Given the description of an element on the screen output the (x, y) to click on. 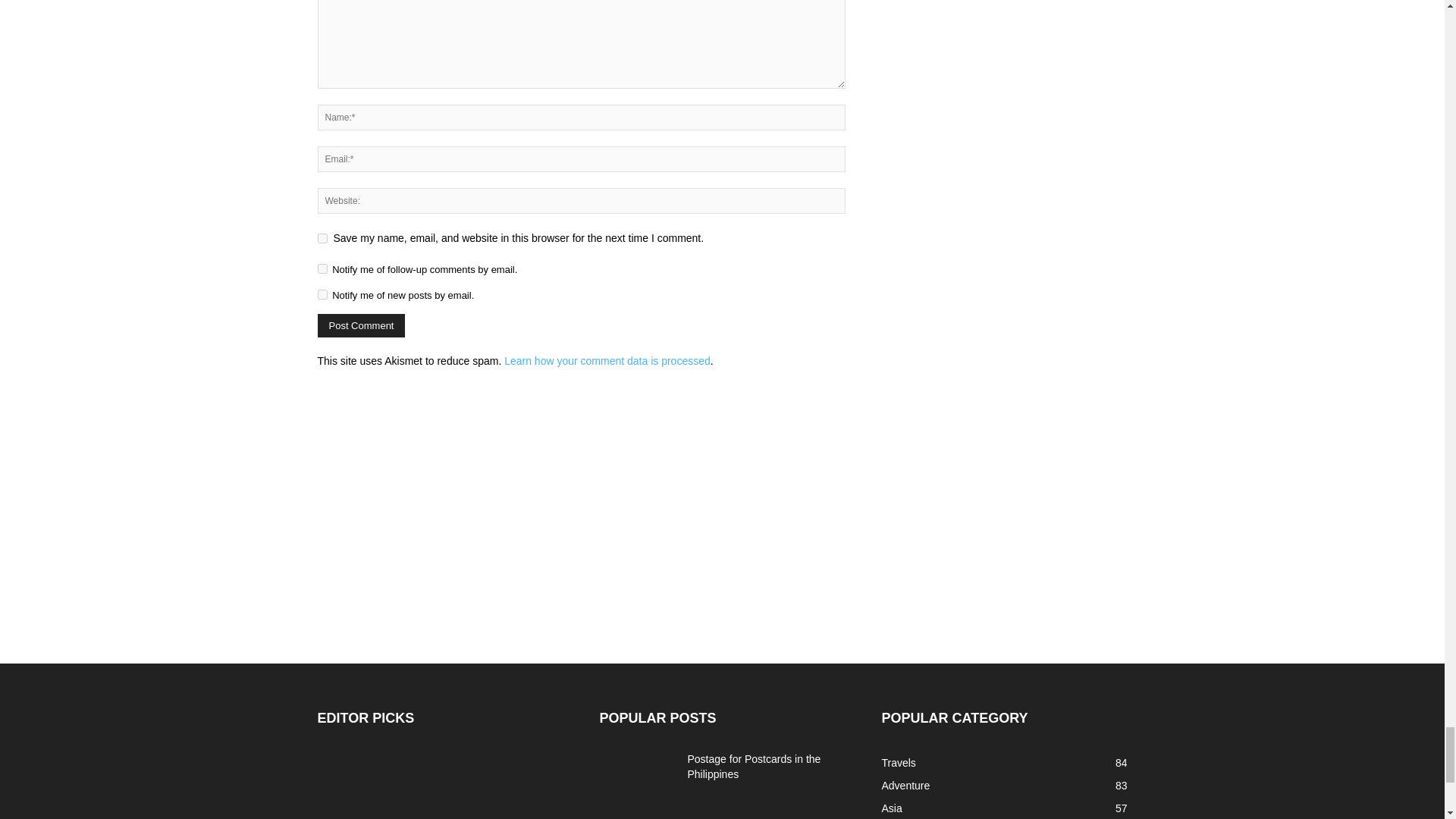
subscribe (321, 294)
subscribe (321, 268)
Post Comment (360, 325)
yes (321, 238)
